Given the description of an element on the screen output the (x, y) to click on. 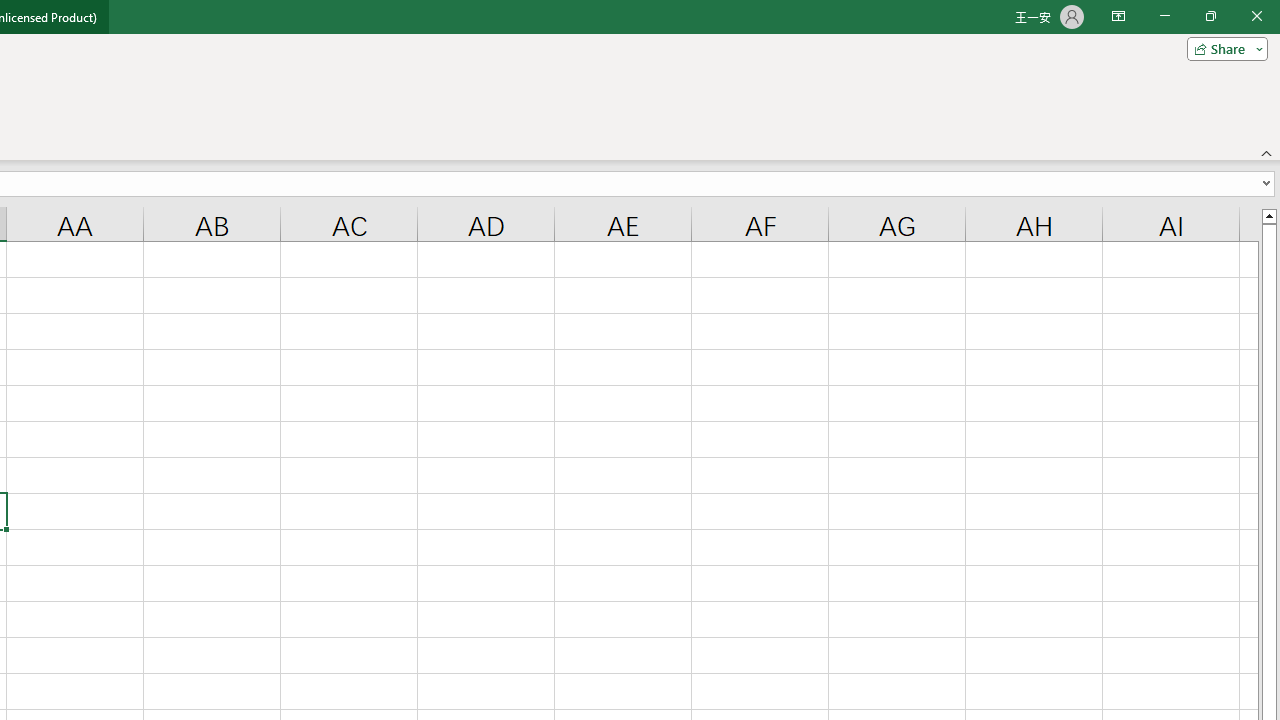
Close (1256, 16)
Line up (1268, 215)
Collapse the Ribbon (1267, 152)
Restore Down (1210, 16)
Minimize (1164, 16)
Share (1223, 48)
Ribbon Display Options (1118, 16)
